Given the description of an element on the screen output the (x, y) to click on. 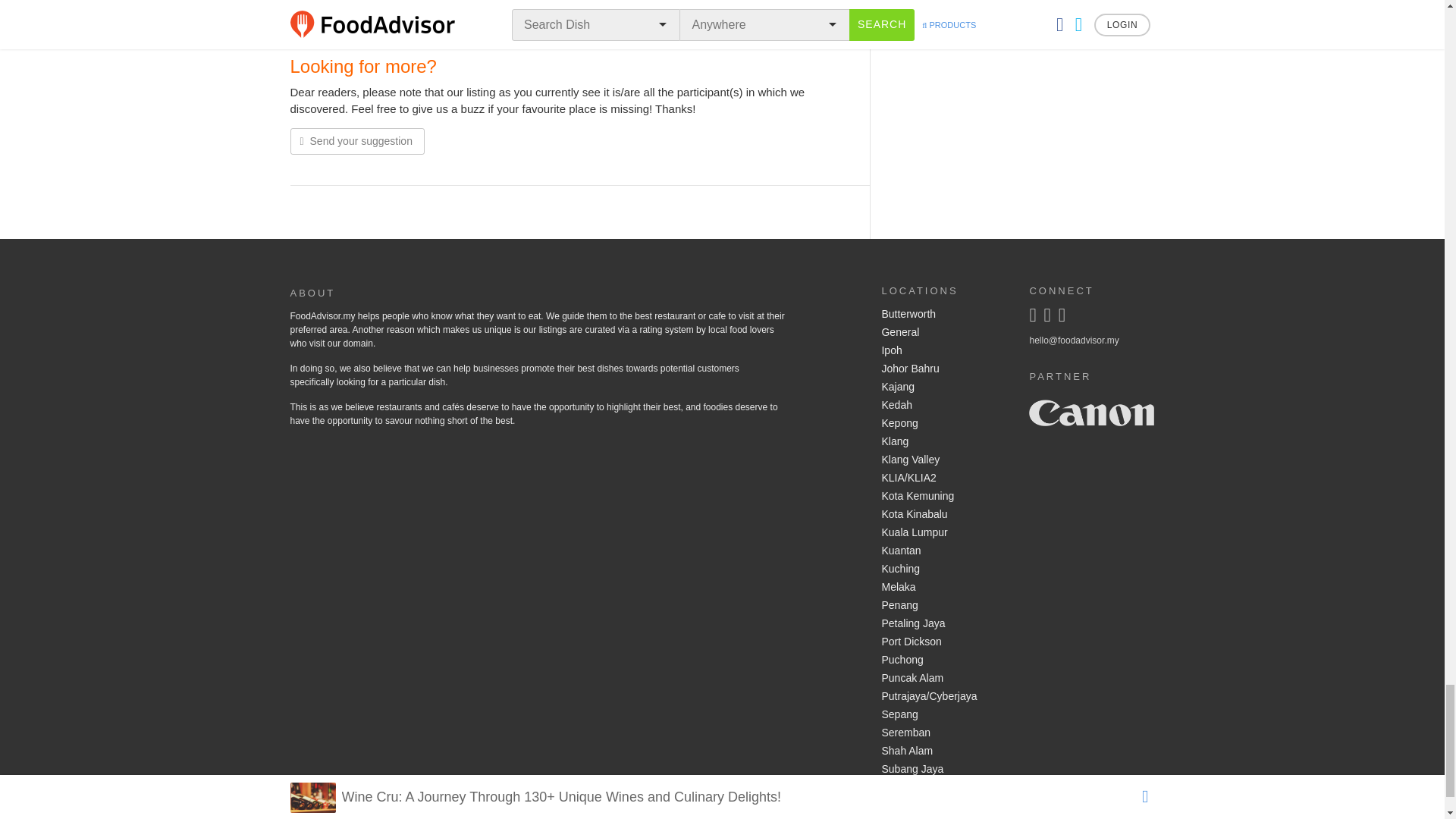
Send your suggestion (356, 140)
TOP RATED (374, 25)
OPEN NOW (545, 25)
RECENTLY ADDED (460, 25)
CITIES (818, 25)
